Given the description of an element on the screen output the (x, y) to click on. 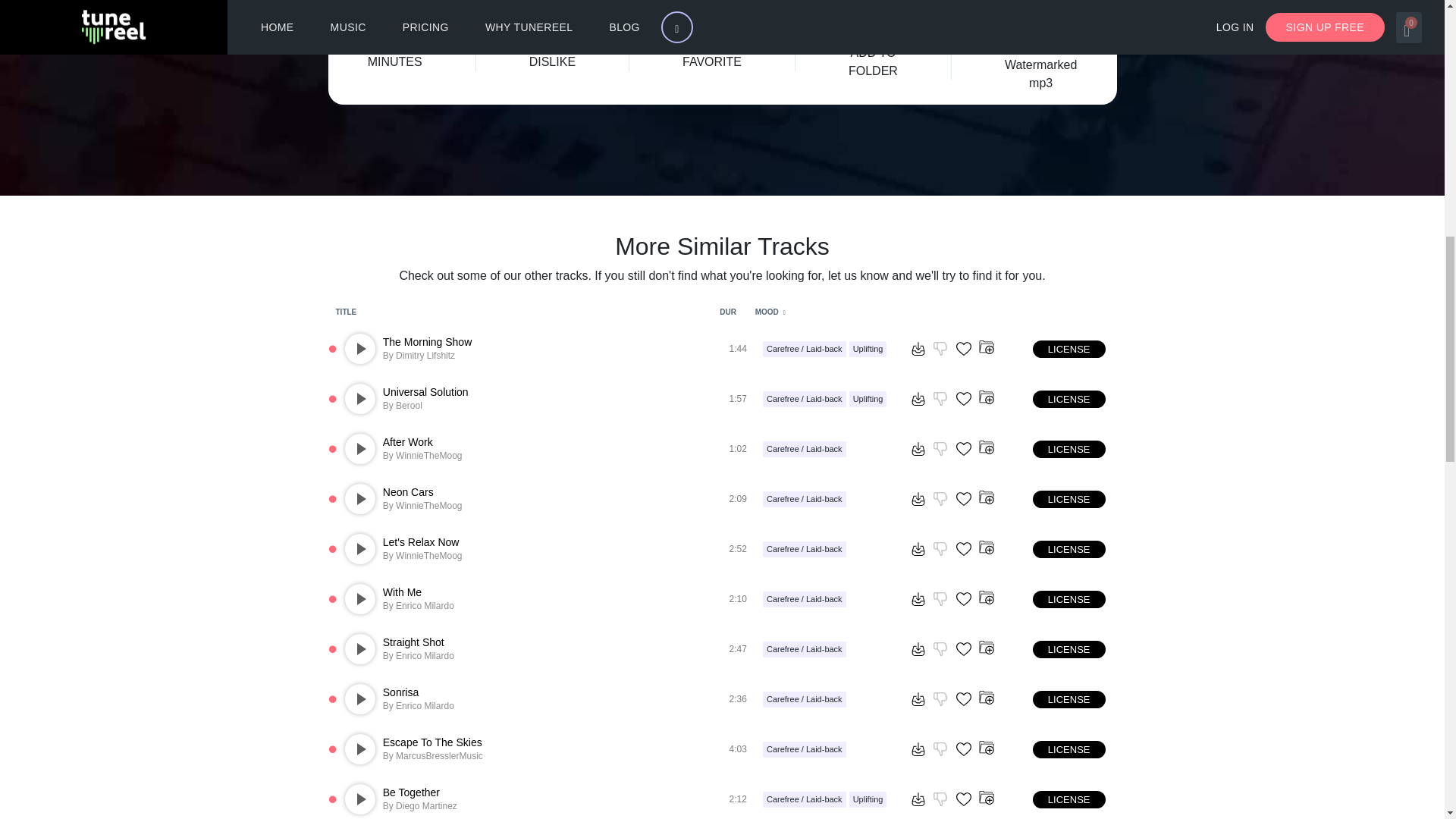
Dislike (548, 30)
Add to favorite (963, 498)
Add to favorite (963, 398)
Dislike (939, 499)
Download Watermarked mp3 (917, 398)
Download Watermarked mp3 (917, 348)
Download Watermarked mp3 (917, 448)
Add to favorite (963, 448)
Add to favorite (703, 29)
Dislike (939, 348)
Dislike (939, 448)
Add to favorite (963, 348)
Dislike (939, 398)
Download Watermarked mp3 (917, 498)
